Given the description of an element on the screen output the (x, y) to click on. 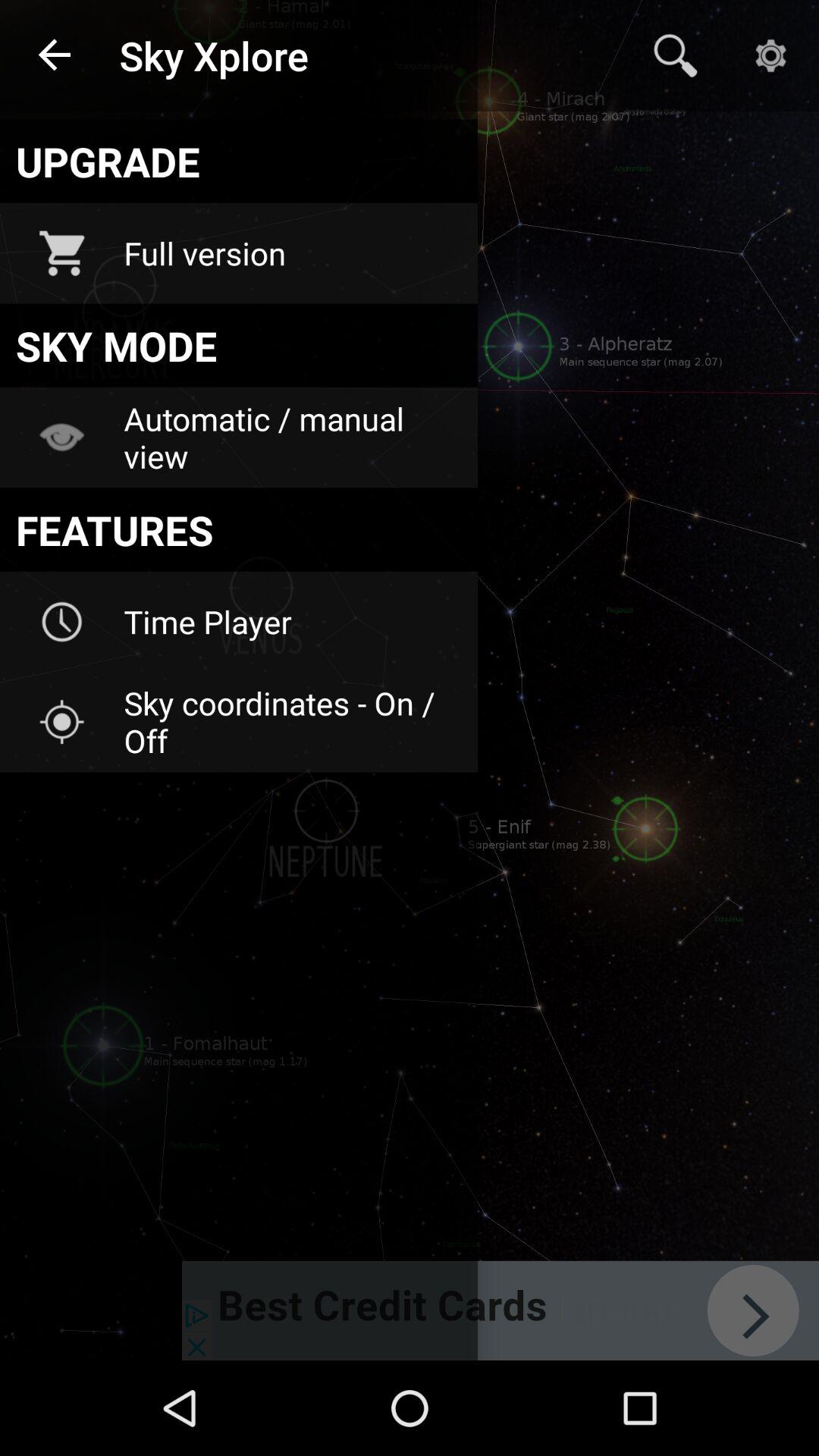
open icon below the full version icon (238, 345)
